Given the description of an element on the screen output the (x, y) to click on. 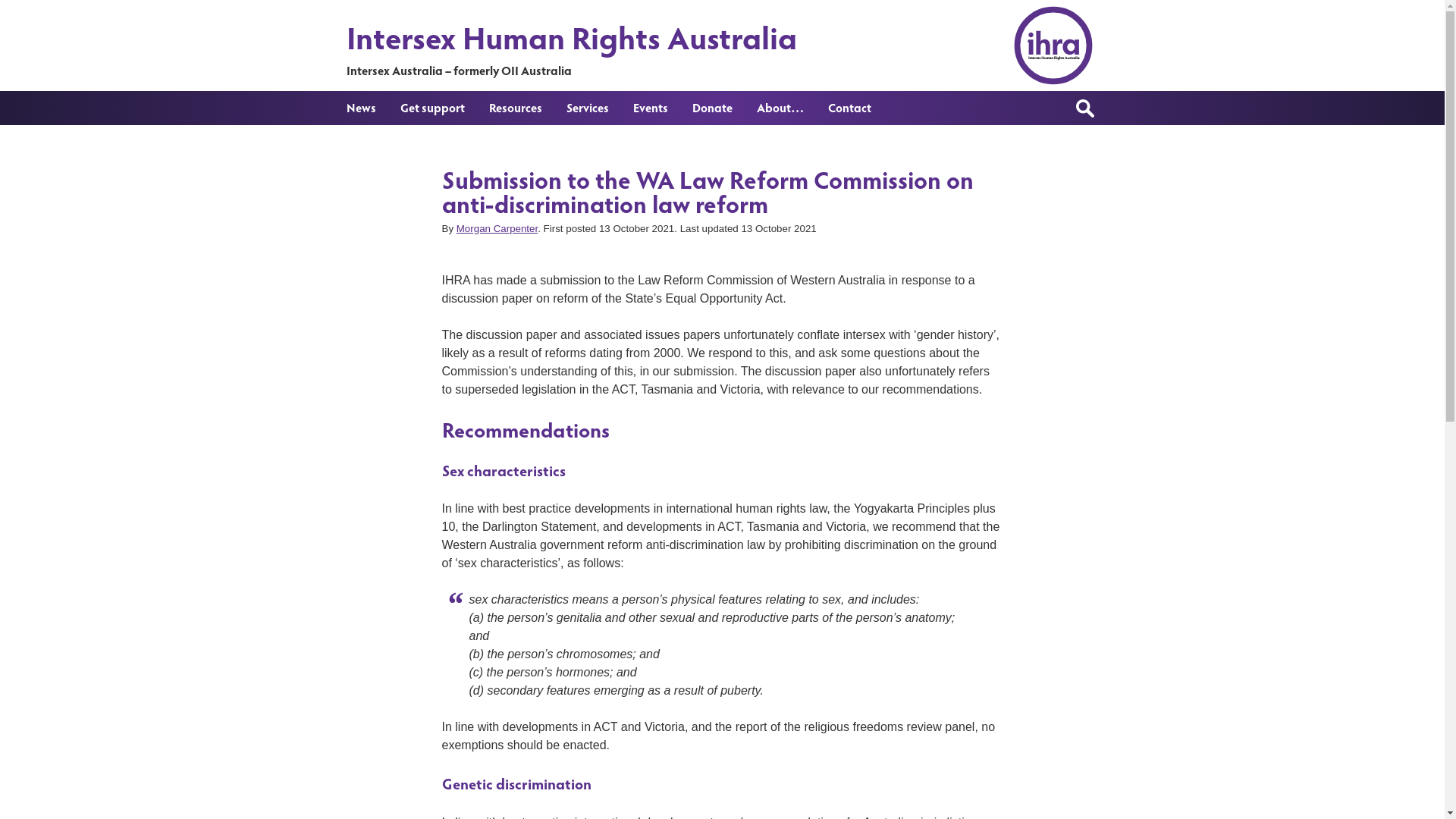
Morgan Carpenter Element type: text (496, 228)
Resources Element type: text (514, 107)
Services Element type: text (586, 107)
Contact Element type: text (849, 107)
Donate Element type: text (711, 107)
Search Element type: text (25, 9)
Get support Element type: text (432, 107)
News Element type: text (360, 107)
Events Element type: text (649, 107)
